Given the description of an element on the screen output the (x, y) to click on. 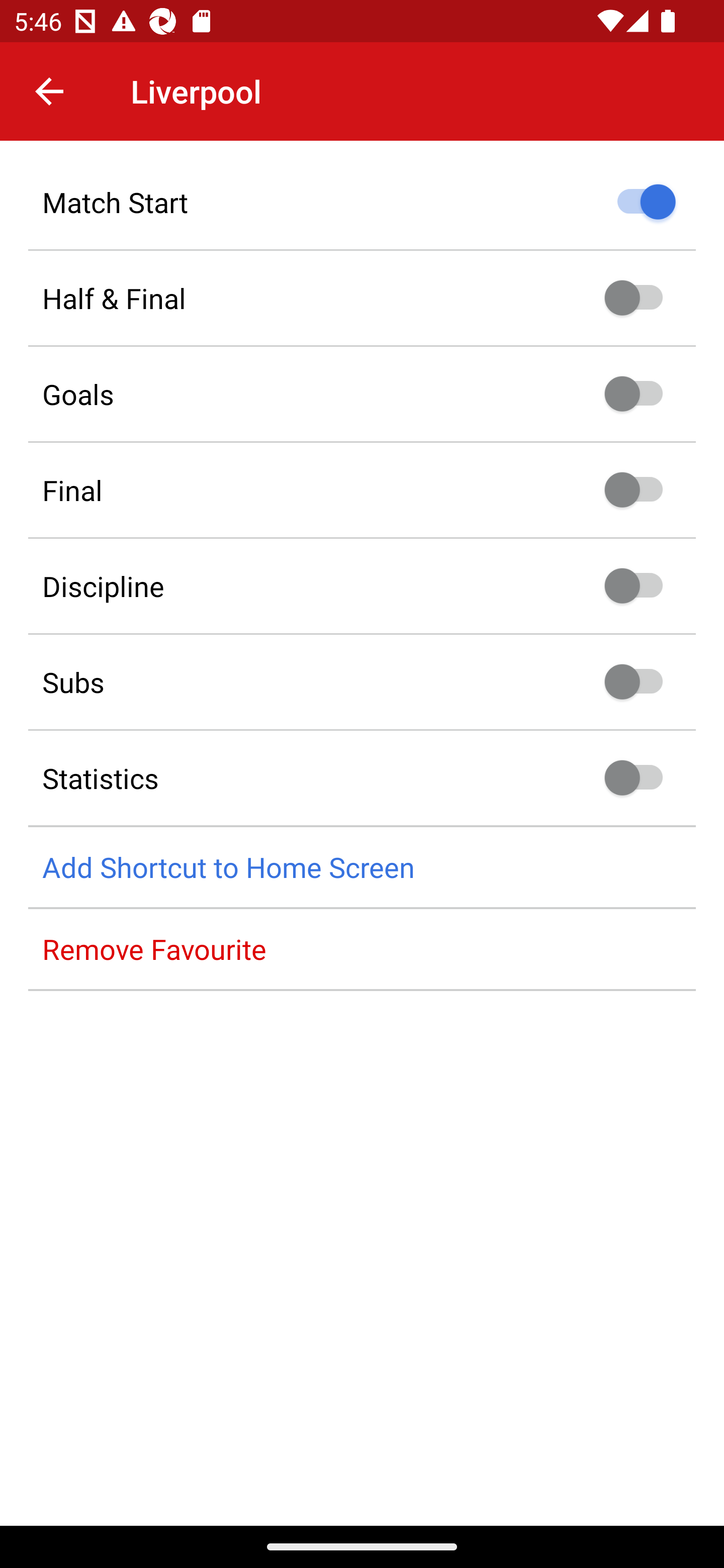
Navigate up (49, 91)
Add Shortcut to Home Screen (362, 867)
Remove Favourite (362, 948)
